Given the description of an element on the screen output the (x, y) to click on. 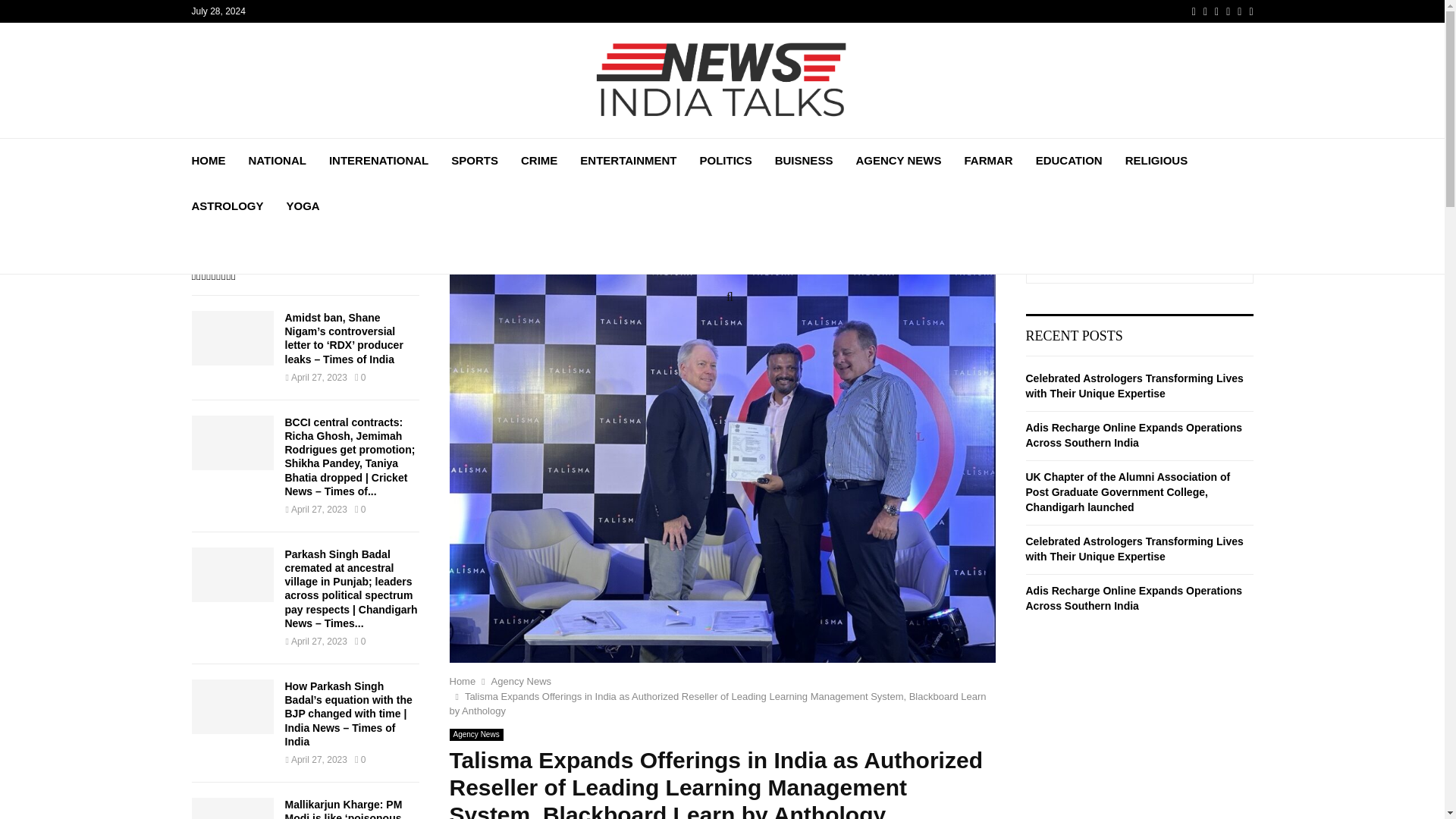
NATIONAL (276, 160)
Facebook (1193, 11)
YOGA (303, 206)
HOME (207, 160)
POLITICS (726, 160)
Home (462, 681)
RELIGIOUS (1156, 160)
Youtube (1227, 11)
CRIME (539, 160)
Twitter (1205, 11)
SPORTS (474, 160)
Email (1239, 11)
ENTERTAINMENT (628, 160)
AGENCY NEWS (898, 160)
